Given the description of an element on the screen output the (x, y) to click on. 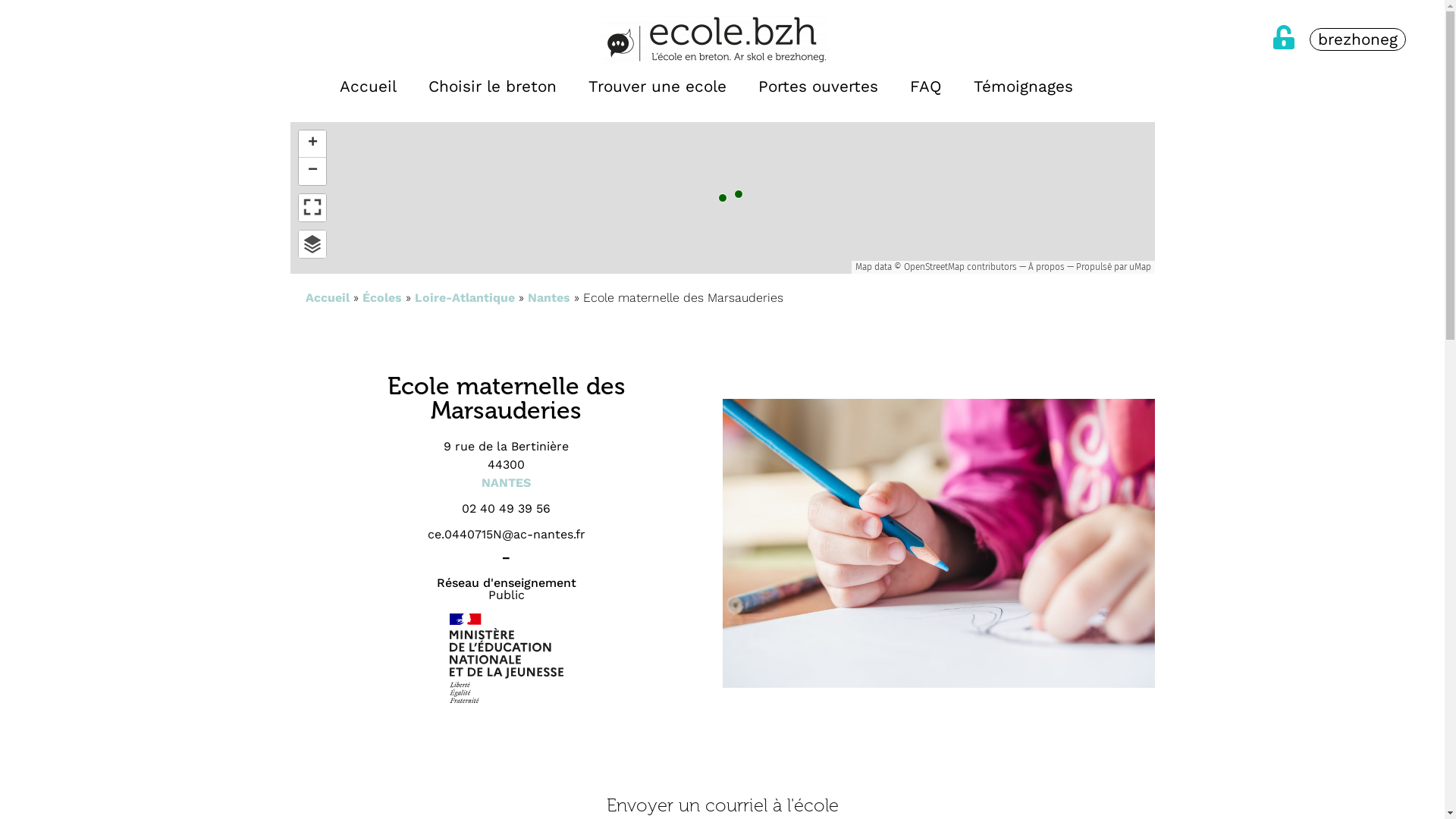
Accueil Element type: text (326, 297)
Nantes Element type: text (548, 297)
_ Element type: text (505, 552)
Loire-Atlantique Element type: text (464, 297)
Accueil Element type: text (367, 86)
Trouver une ecole Element type: text (657, 86)
Portes ouvertes Element type: text (818, 86)
brezhoneg Element type: text (1357, 40)
brezhoneg Element type: hover (1104, 86)
Choisir le breton Element type: text (492, 86)
FAQ Element type: text (925, 86)
